Given the description of an element on the screen output the (x, y) to click on. 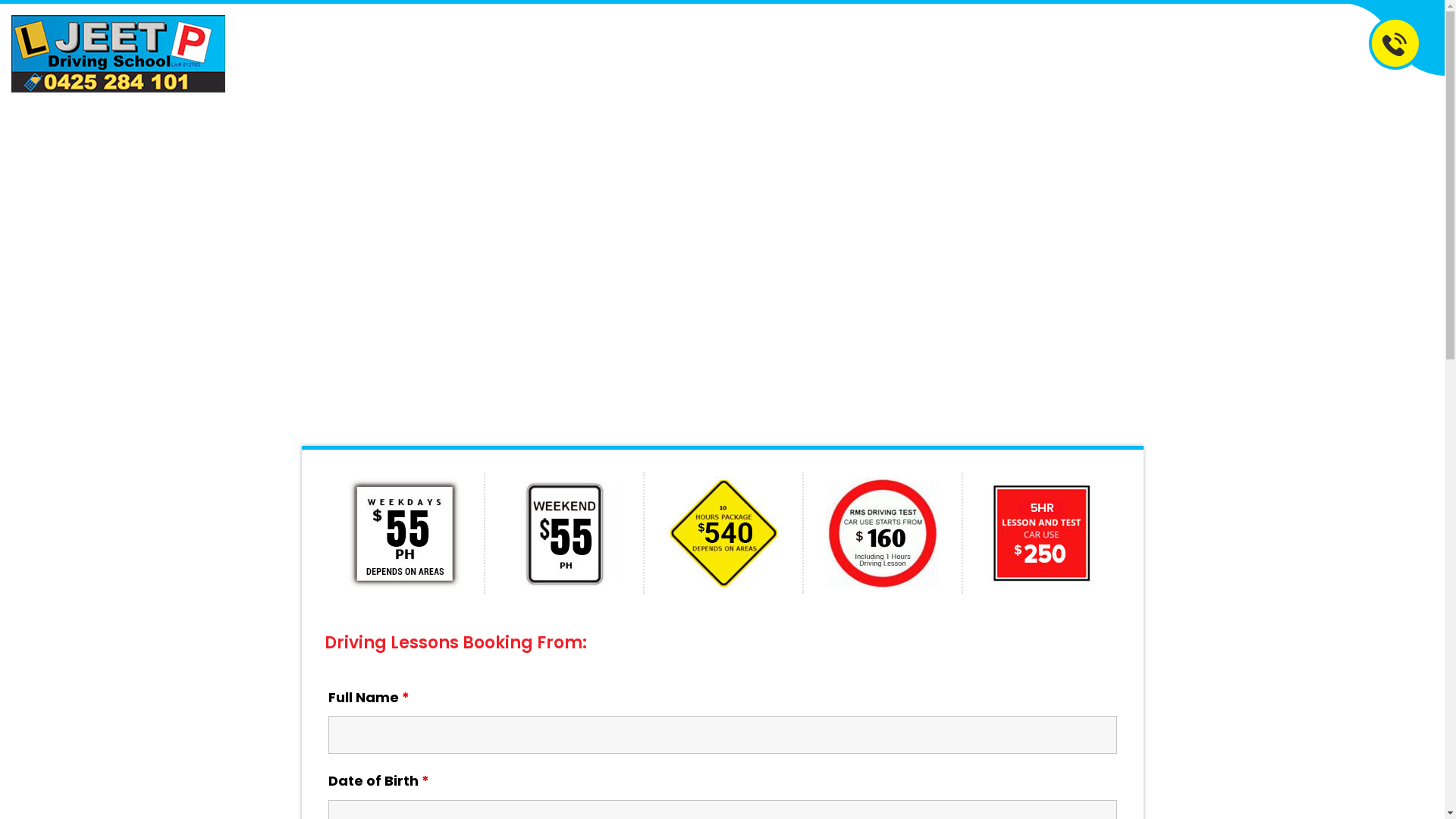
Gallery Element type: text (948, 47)
Booking Element type: text (790, 47)
About Us Element type: text (608, 47)
Testimonials Element type: text (870, 47)
Home Element type: text (543, 47)
Contact Element type: text (1014, 47)
Lessons & Prices Element type: text (701, 47)
